Given the description of an element on the screen output the (x, y) to click on. 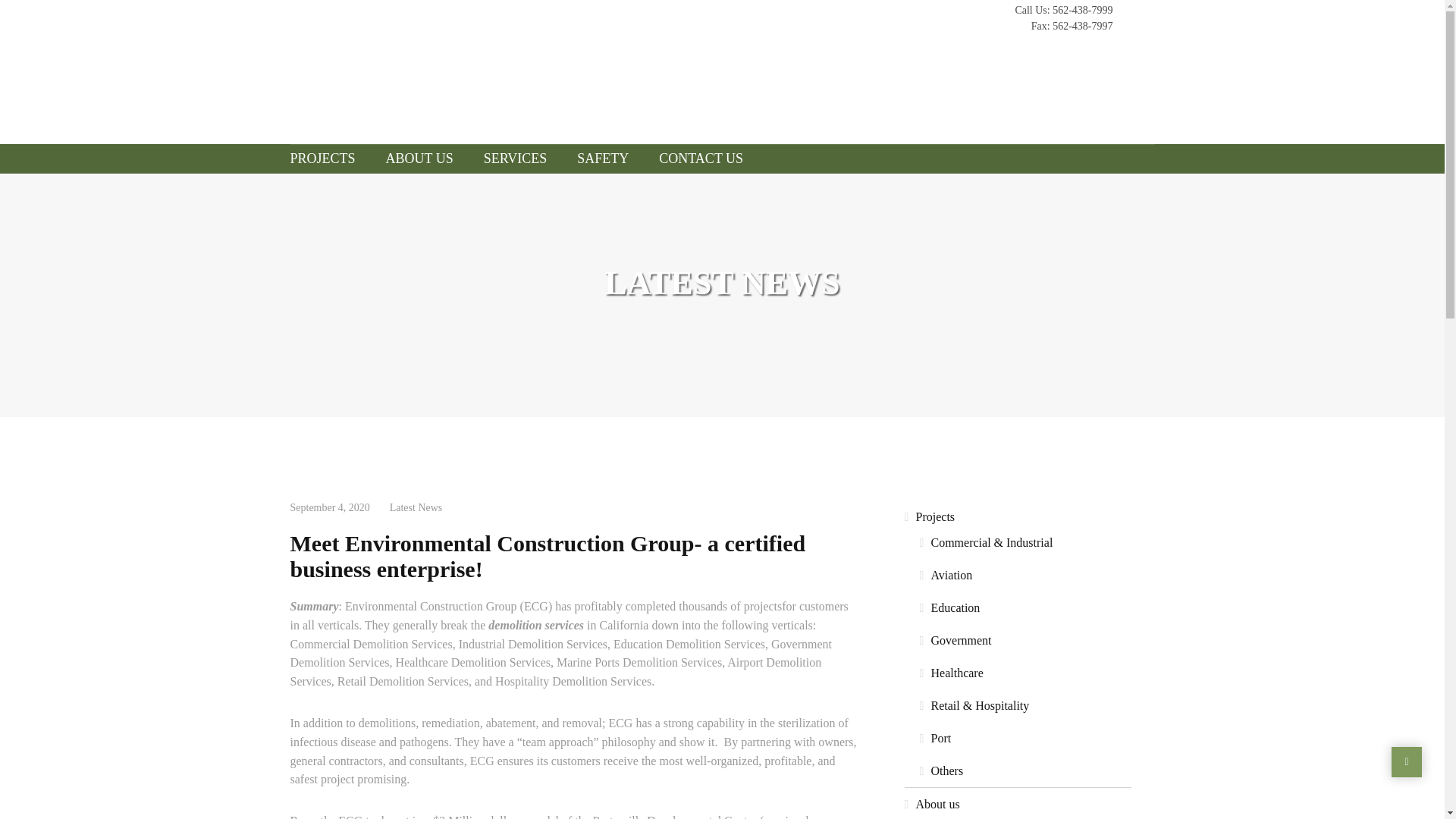
SERVICES (515, 157)
PROJECTS (329, 157)
ABOUT US (419, 157)
Latest News (416, 507)
CONTACT US (700, 157)
Projects (1017, 516)
Aviation (1021, 574)
Government (1021, 640)
Education (1021, 607)
SAFETY (602, 157)
